Given the description of an element on the screen output the (x, y) to click on. 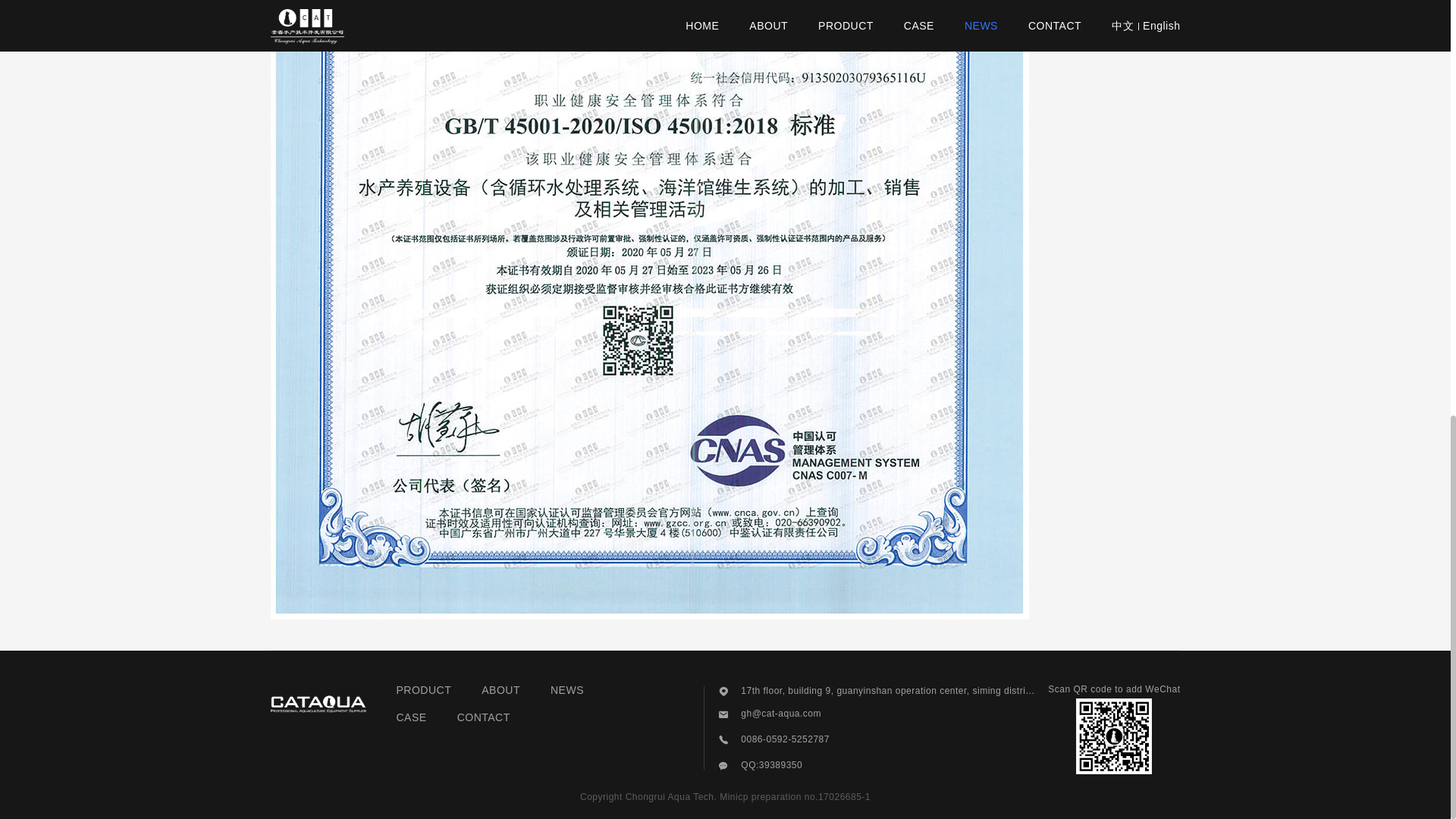
NEWS (566, 689)
CASE (411, 716)
CONTACT (484, 716)
ABOUT (500, 689)
Minicp preparation no.17026685-1 (794, 796)
PRODUCT (423, 689)
